Given the description of an element on the screen output the (x, y) to click on. 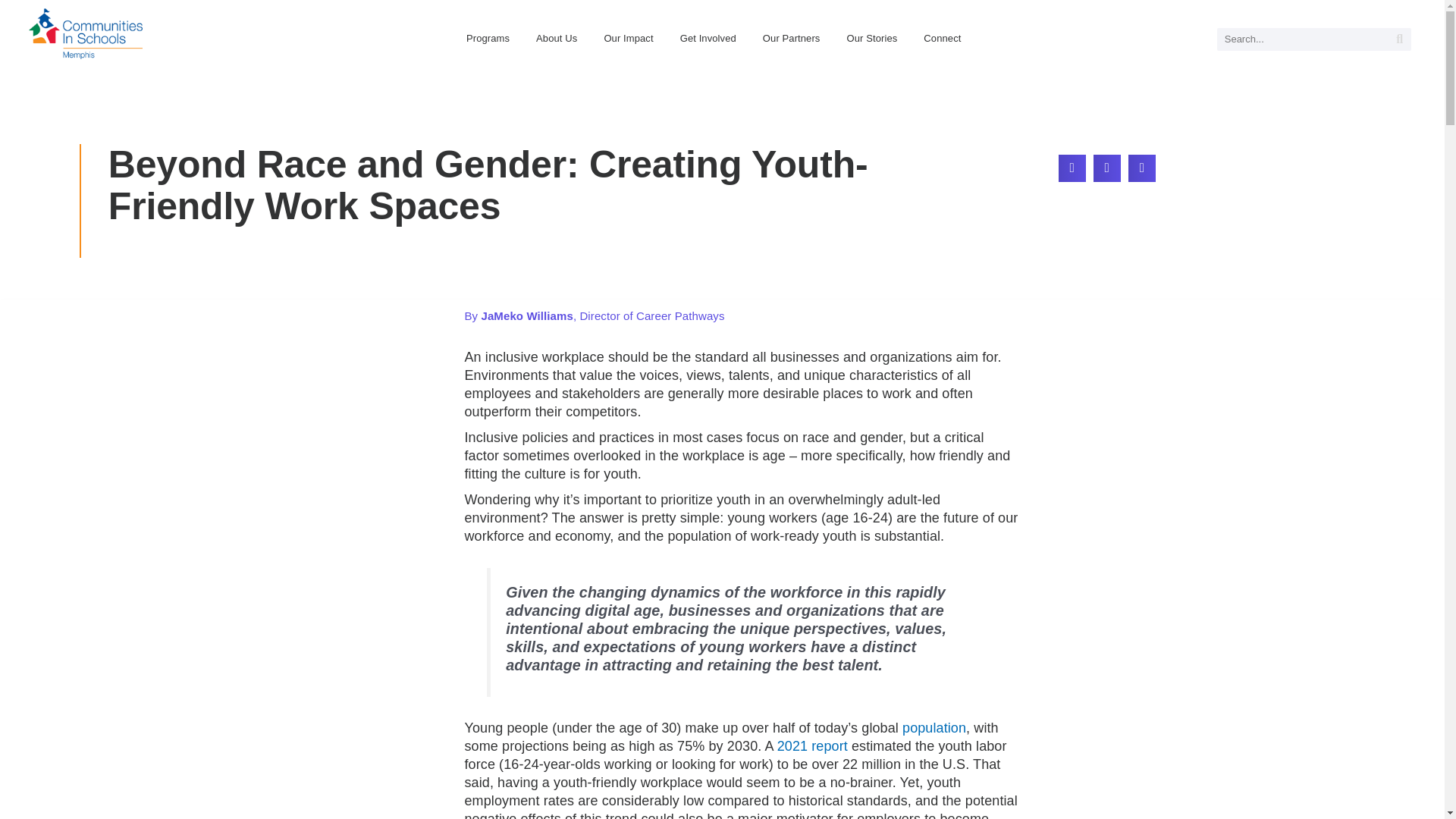
Programs (487, 38)
Our Impact (628, 38)
About Us (555, 38)
